Given the description of an element on the screen output the (x, y) to click on. 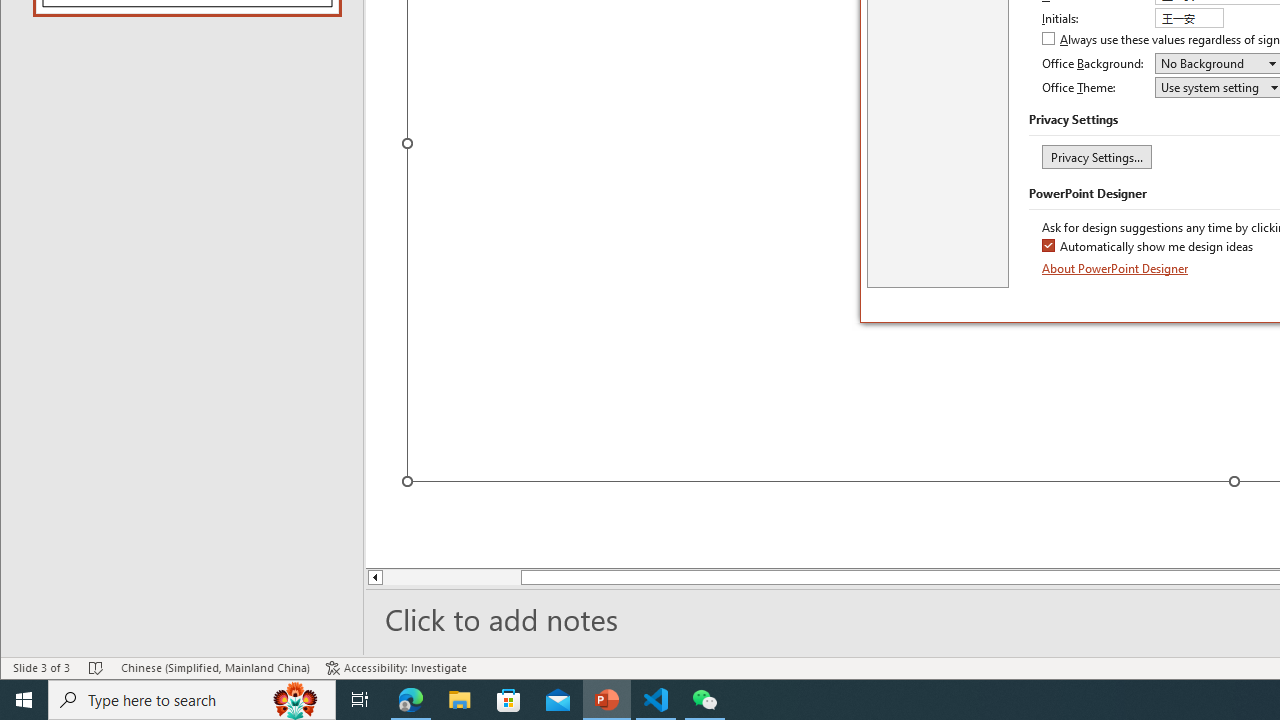
About PowerPoint Designer (1116, 268)
